Given the description of an element on the screen output the (x, y) to click on. 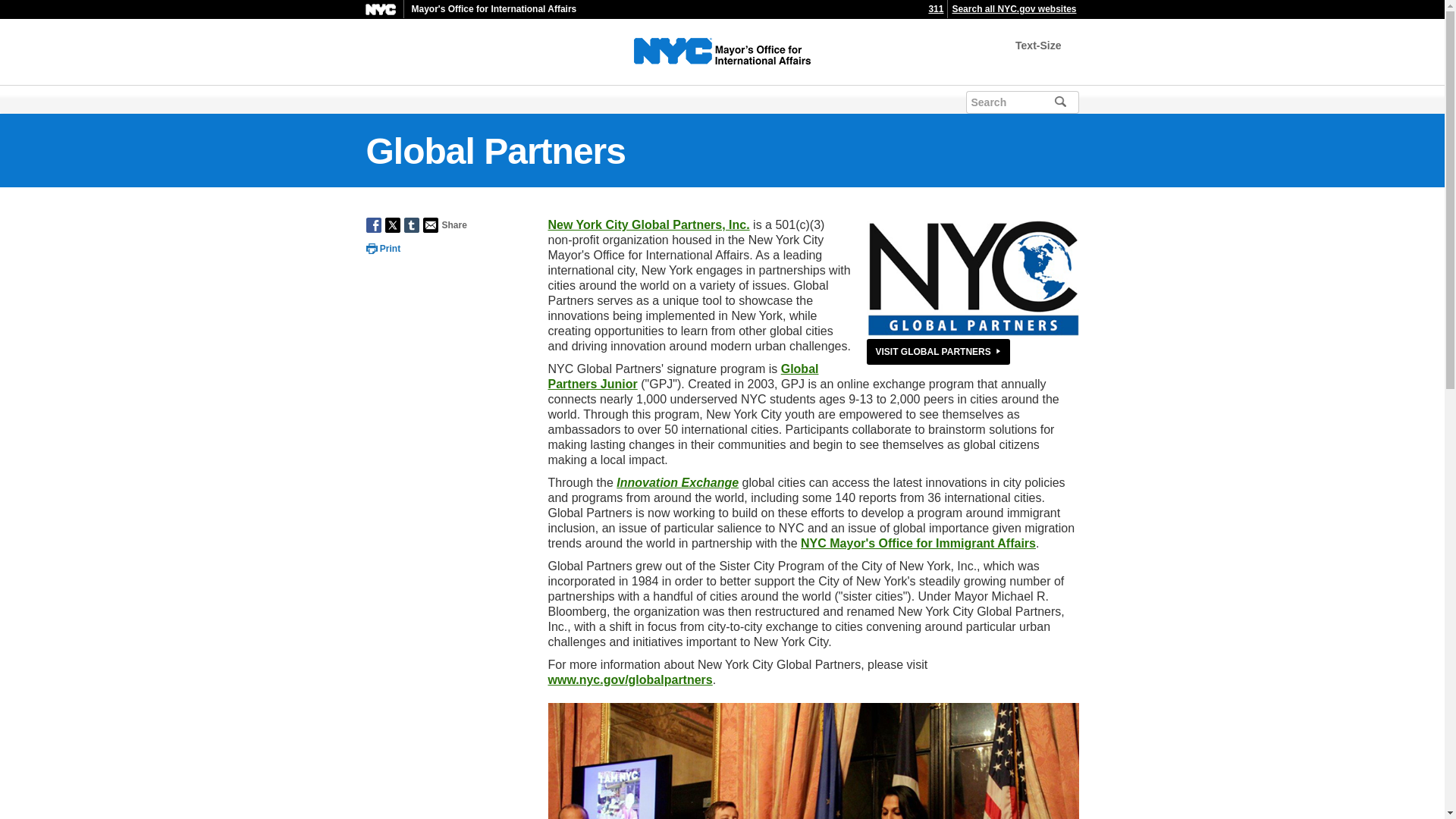
311 (935, 9)
Global Partners Junior (682, 376)
Text-Size (1037, 45)
VISIT GLOBAL PARTNERS (937, 351)
search (1081, 100)
Innovation Exchange (676, 481)
Search all NYC.gov websites (1013, 9)
search (1081, 100)
NYC Mayor's Office for Immigrant Affairs (917, 543)
New York City Global Partners, Inc. (648, 224)
